Given the description of an element on the screen output the (x, y) to click on. 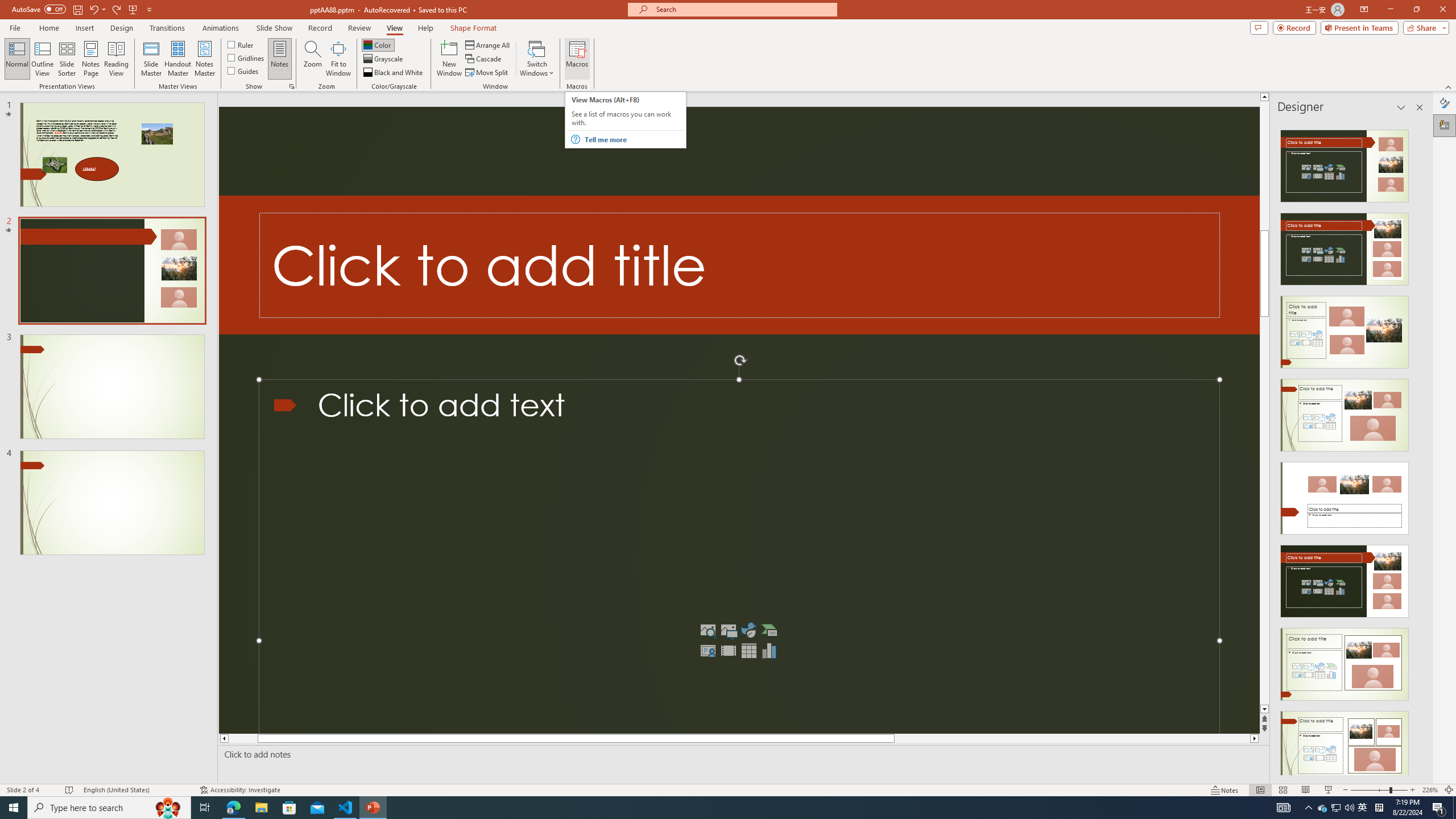
Ruler (241, 44)
Switch Windows (537, 58)
Insert Chart (769, 650)
Notes (279, 58)
Stock Images (707, 629)
Black and White (393, 72)
